Given the description of an element on the screen output the (x, y) to click on. 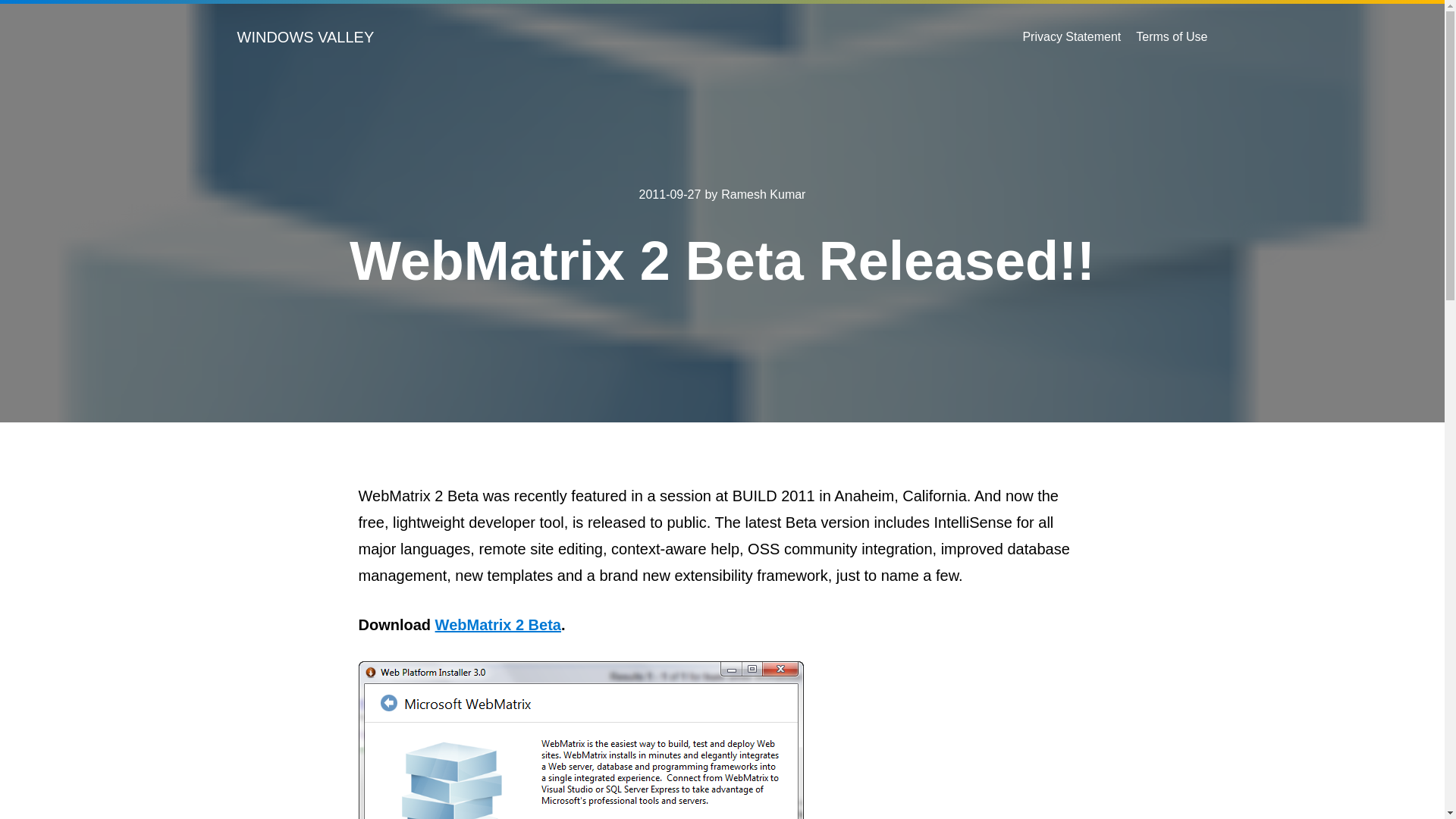
WINDOWS VALLEY (304, 36)
WebMatrix with Web PI (580, 739)
Privacy Statement (1071, 36)
Terms of Use (1171, 36)
WebMatrix 2 Beta (497, 624)
